Given the description of an element on the screen output the (x, y) to click on. 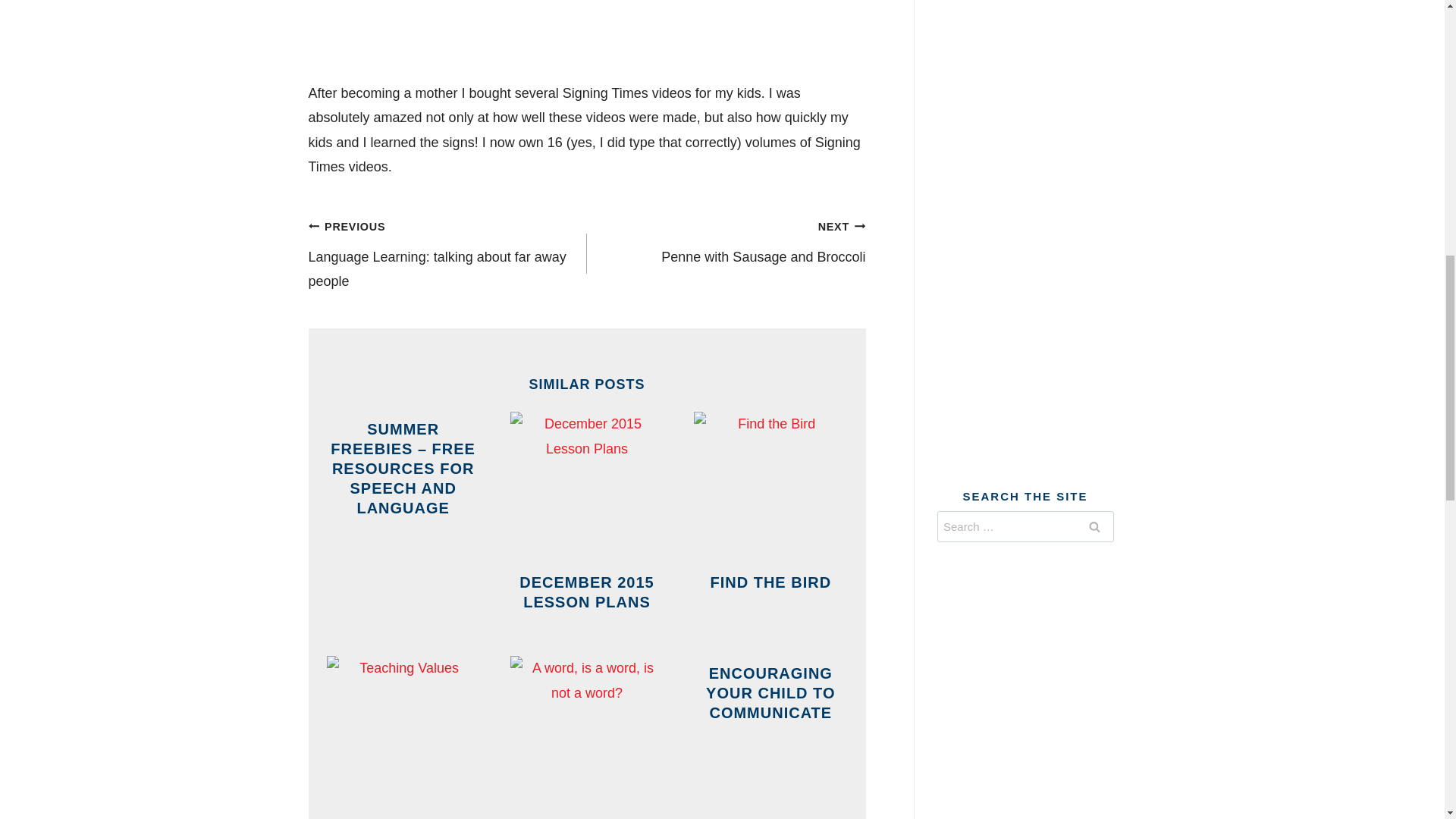
Search (1094, 526)
Search (1094, 526)
DECEMBER 2015 LESSON PLANS (726, 241)
